Given the description of an element on the screen output the (x, y) to click on. 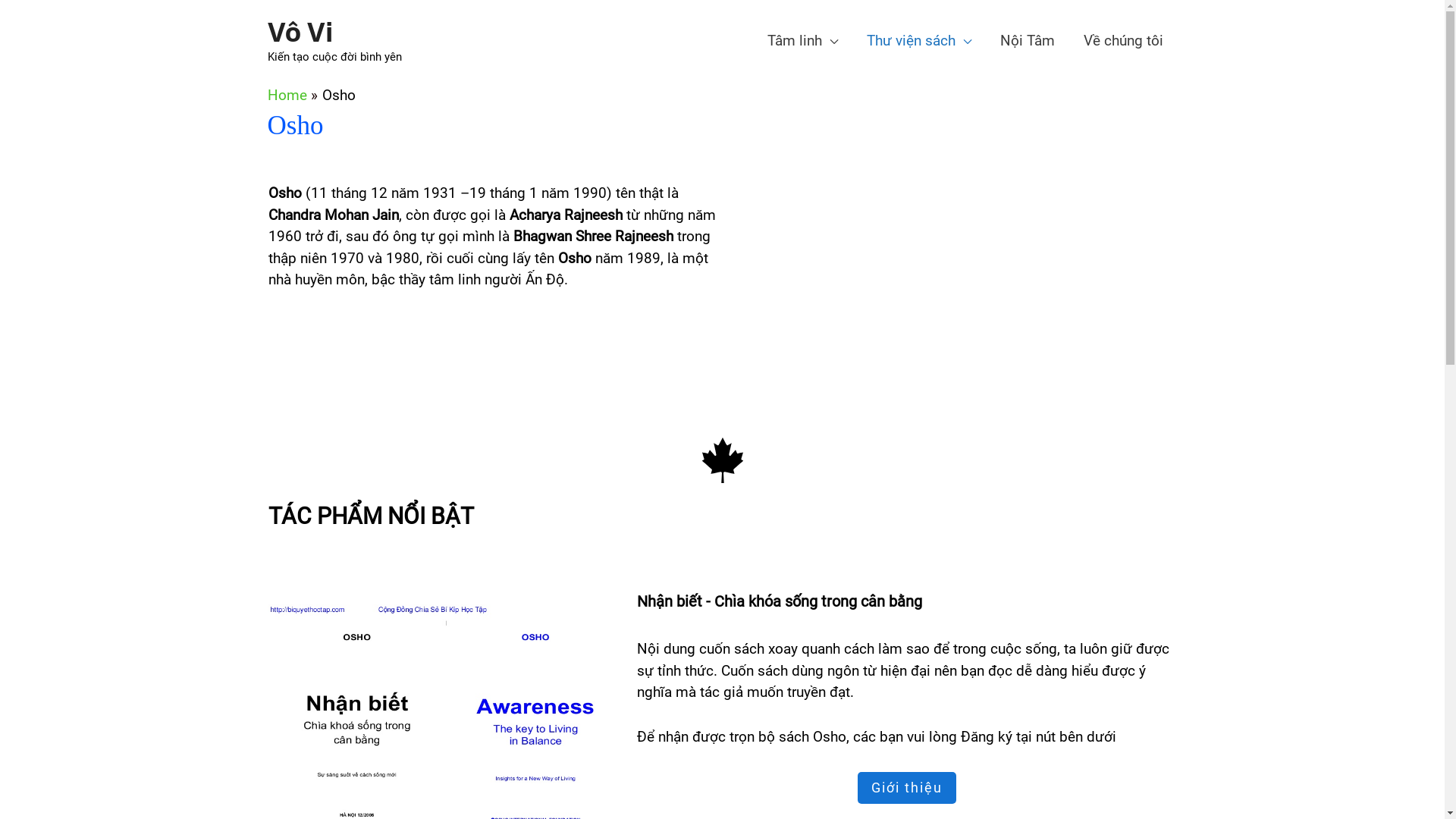
Home Element type: text (286, 94)
